Given the description of an element on the screen output the (x, y) to click on. 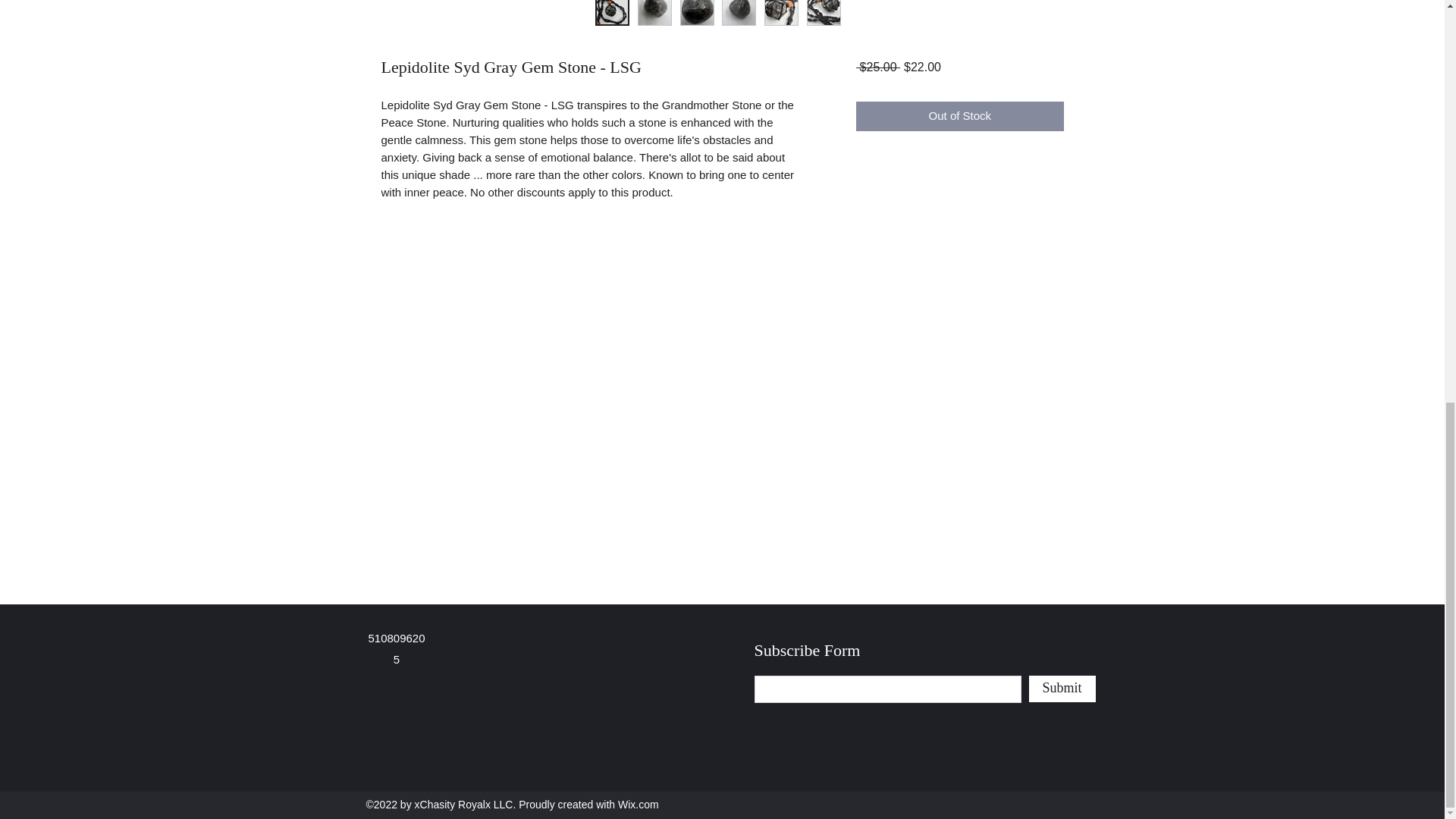
Out of Stock (959, 116)
Submit (1060, 688)
